Given the description of an element on the screen output the (x, y) to click on. 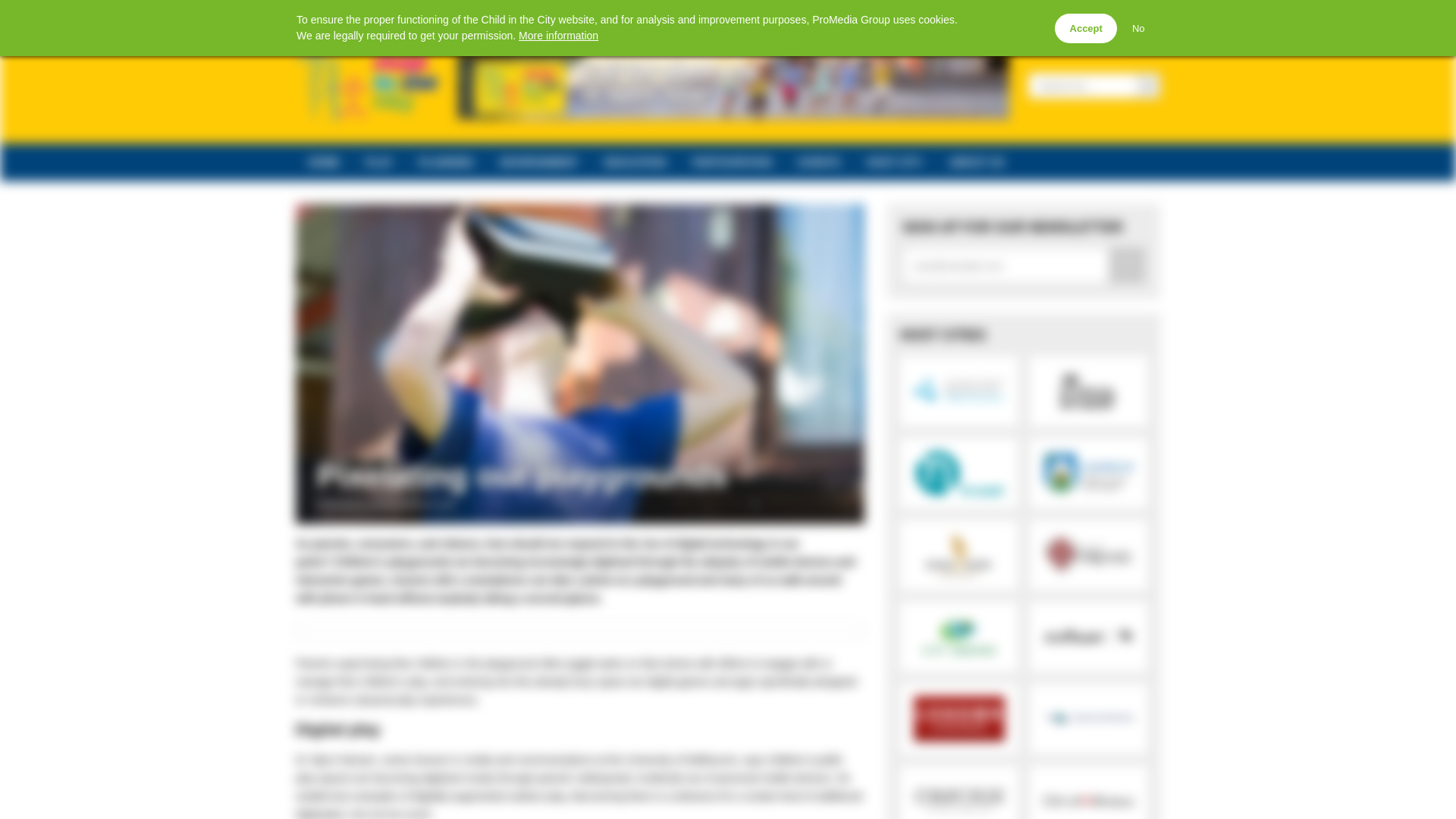
Home (303, 13)
HOME (323, 162)
Instagram (389, 13)
PLAY (379, 162)
PLANNING (446, 162)
YouTube (411, 13)
EVENTS (819, 162)
ENVIRONMENT (538, 162)
EDUCATION (635, 162)
LinkedIn (367, 13)
